Given the description of an element on the screen output the (x, y) to click on. 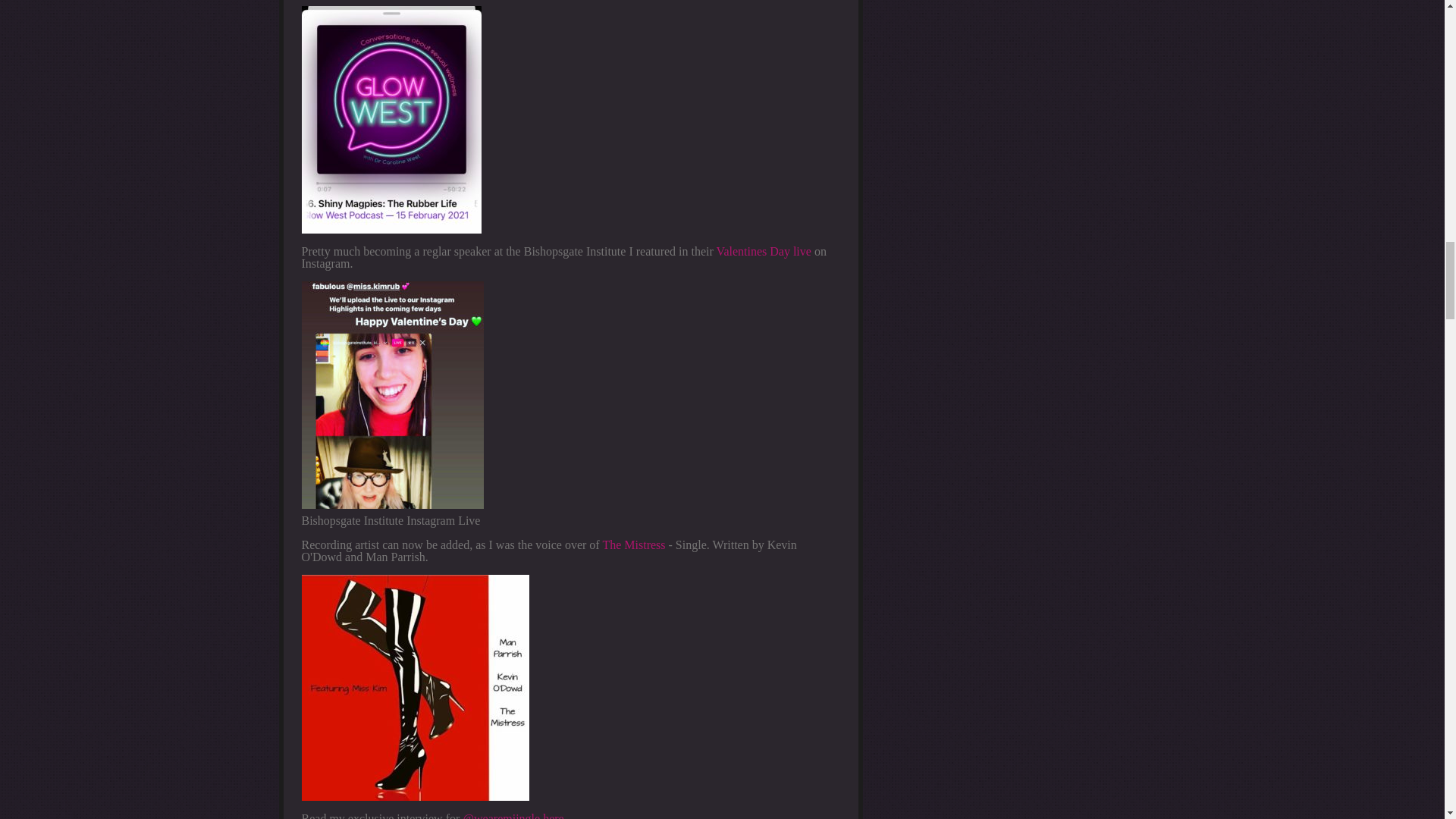
here (553, 815)
The Mistress (633, 544)
Valentines Day live (763, 250)
